Given the description of an element on the screen output the (x, y) to click on. 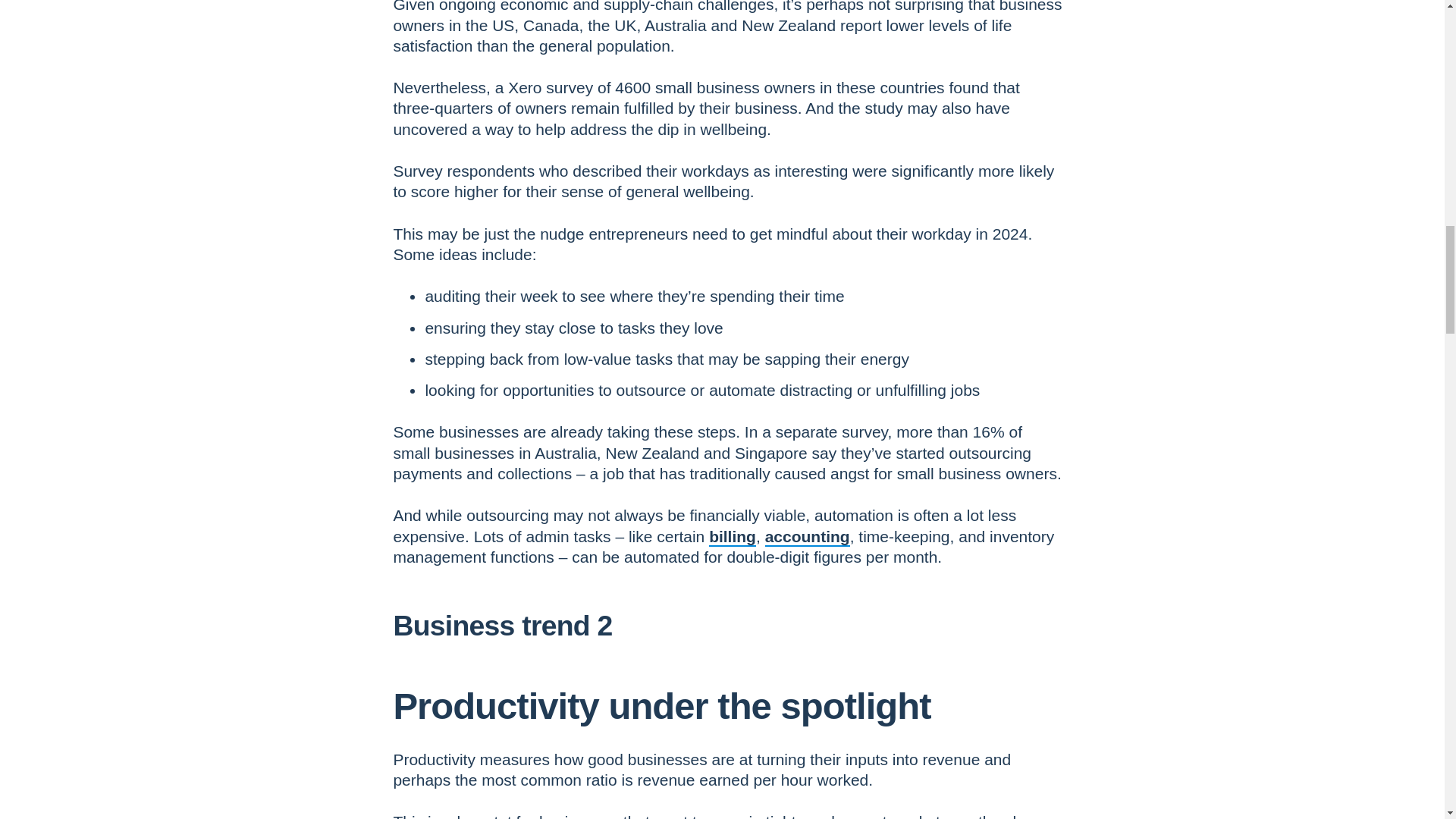
accounting (807, 536)
billing (732, 536)
